Given the description of an element on the screen output the (x, y) to click on. 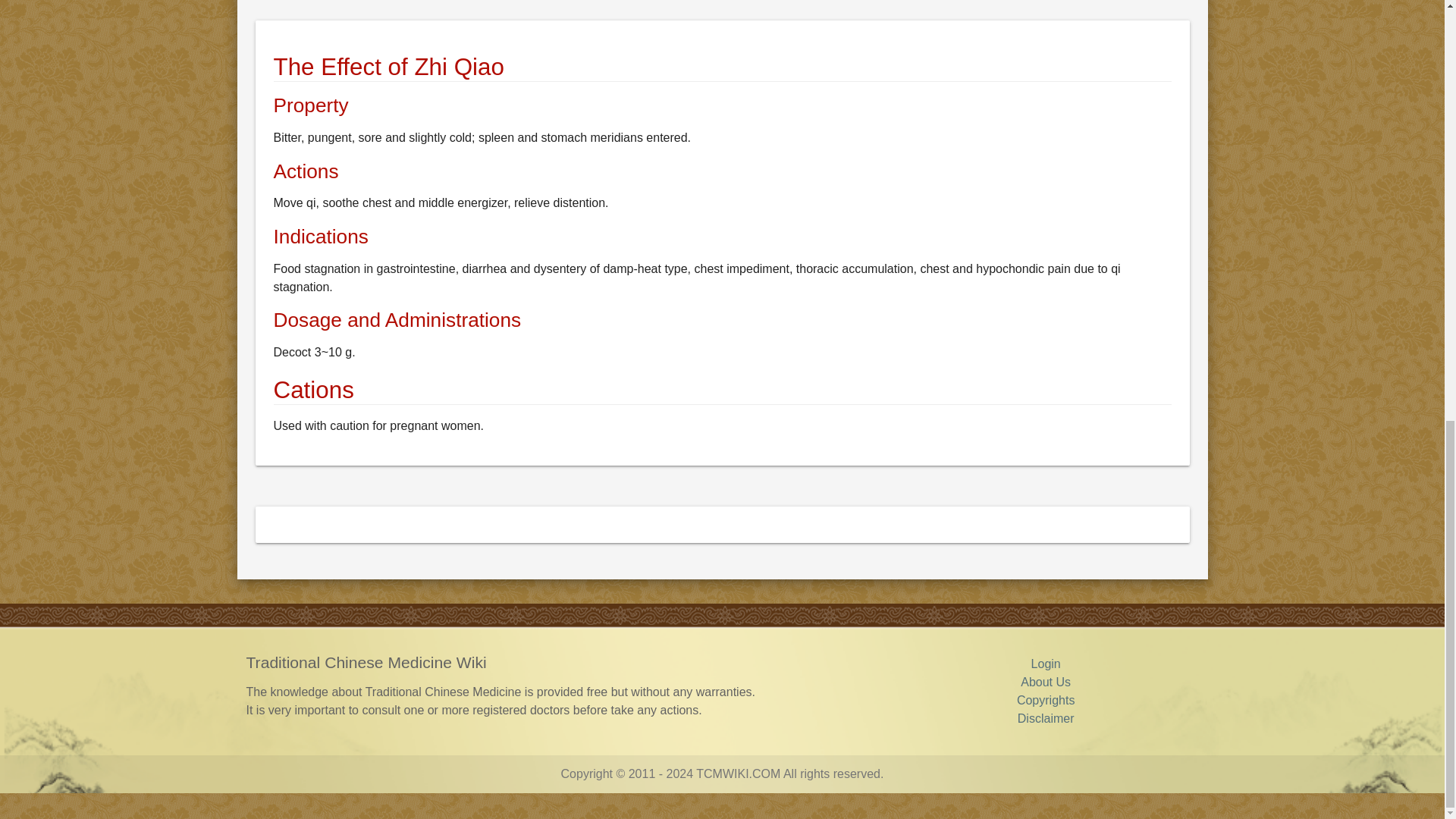
Advertisement (709, 7)
About Us (1045, 681)
Login (1045, 663)
Copyrights (1045, 699)
Disclaimer (1045, 717)
